Given the description of an element on the screen output the (x, y) to click on. 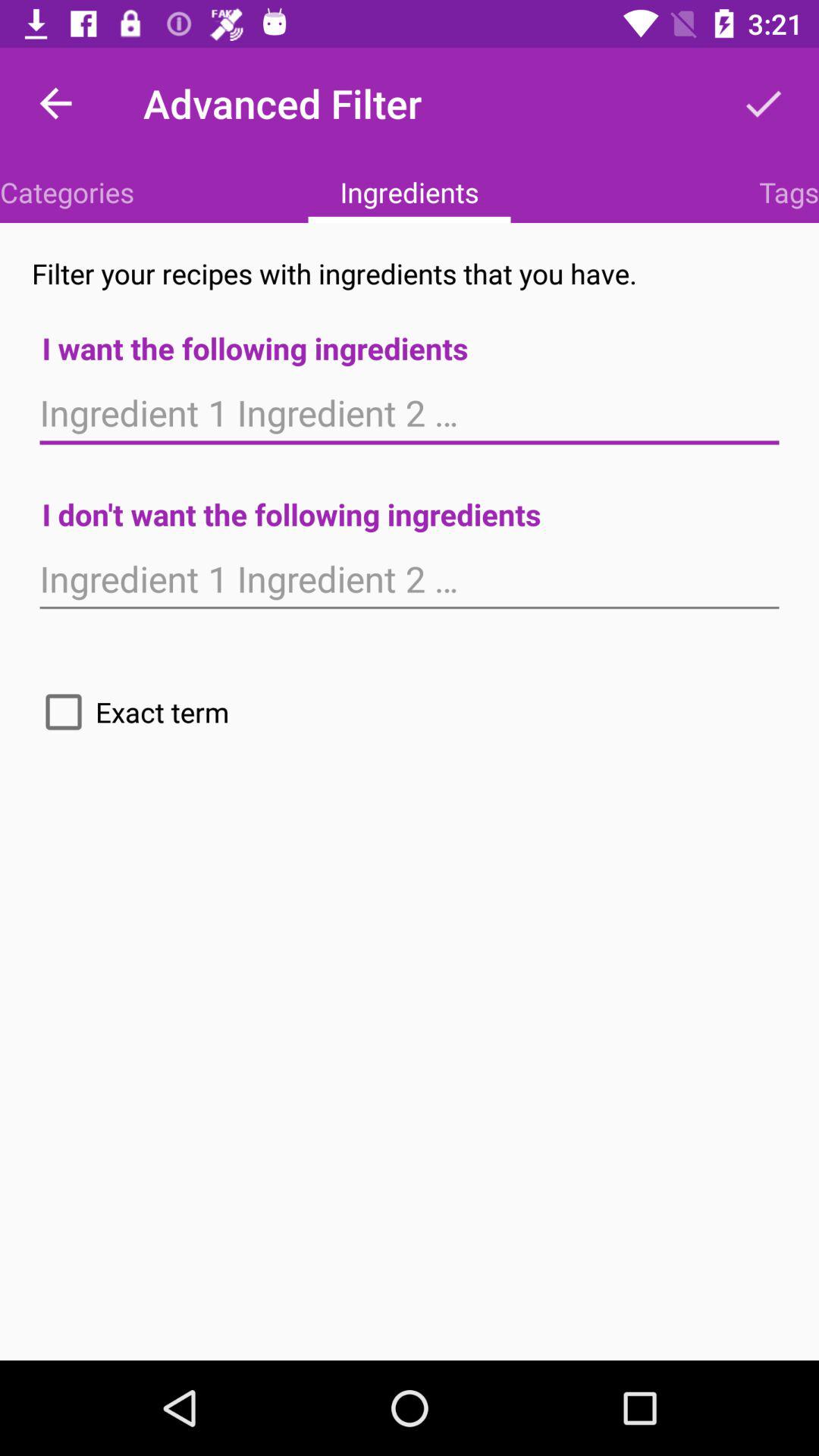
click the item to the left of the advanced filter icon (55, 103)
